Given the description of an element on the screen output the (x, y) to click on. 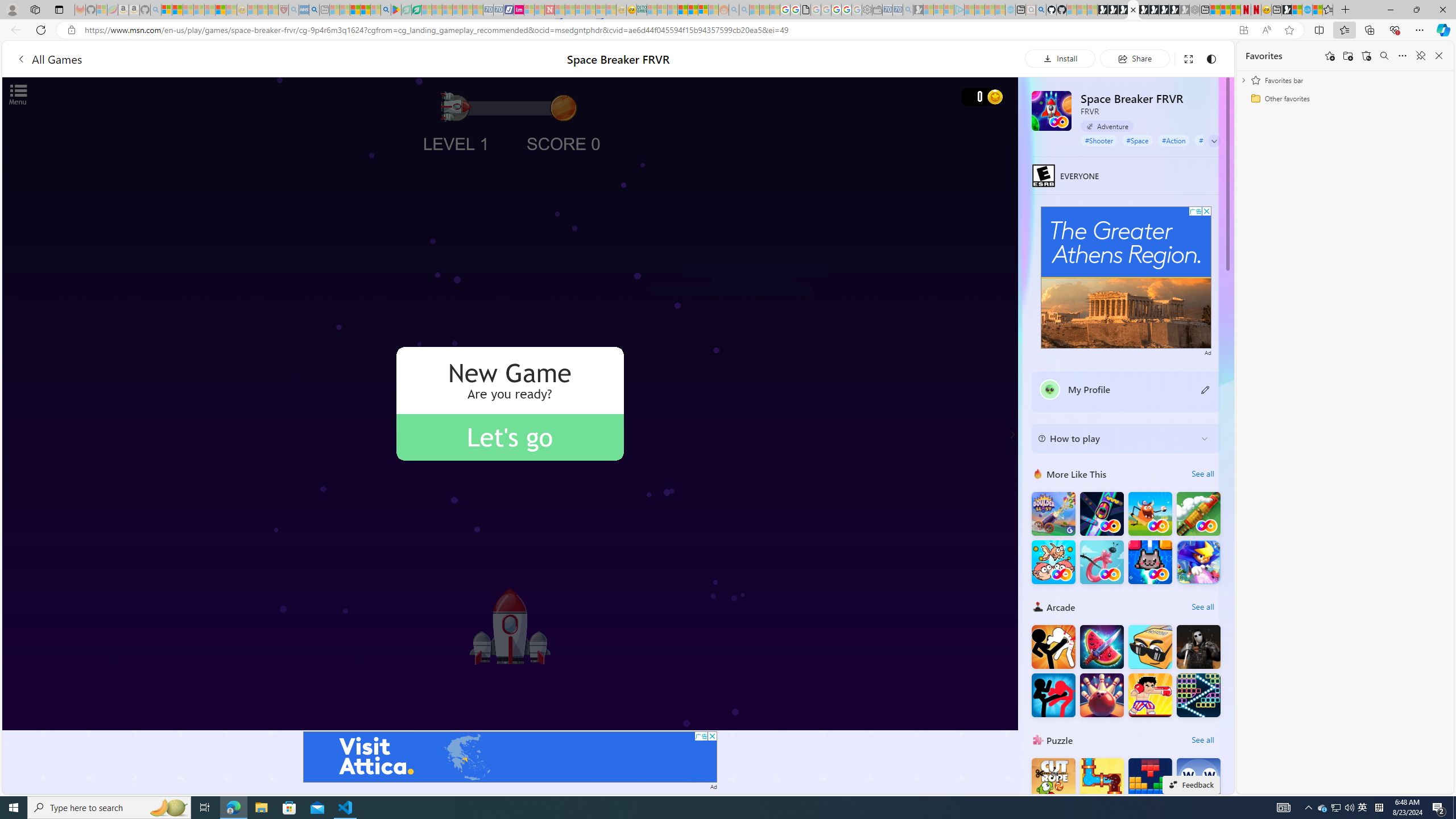
All Games (49, 58)
BlockBuster: Adventures Puzzle (1149, 779)
Install (1060, 58)
Advertisement (1126, 277)
